Given the description of an element on the screen output the (x, y) to click on. 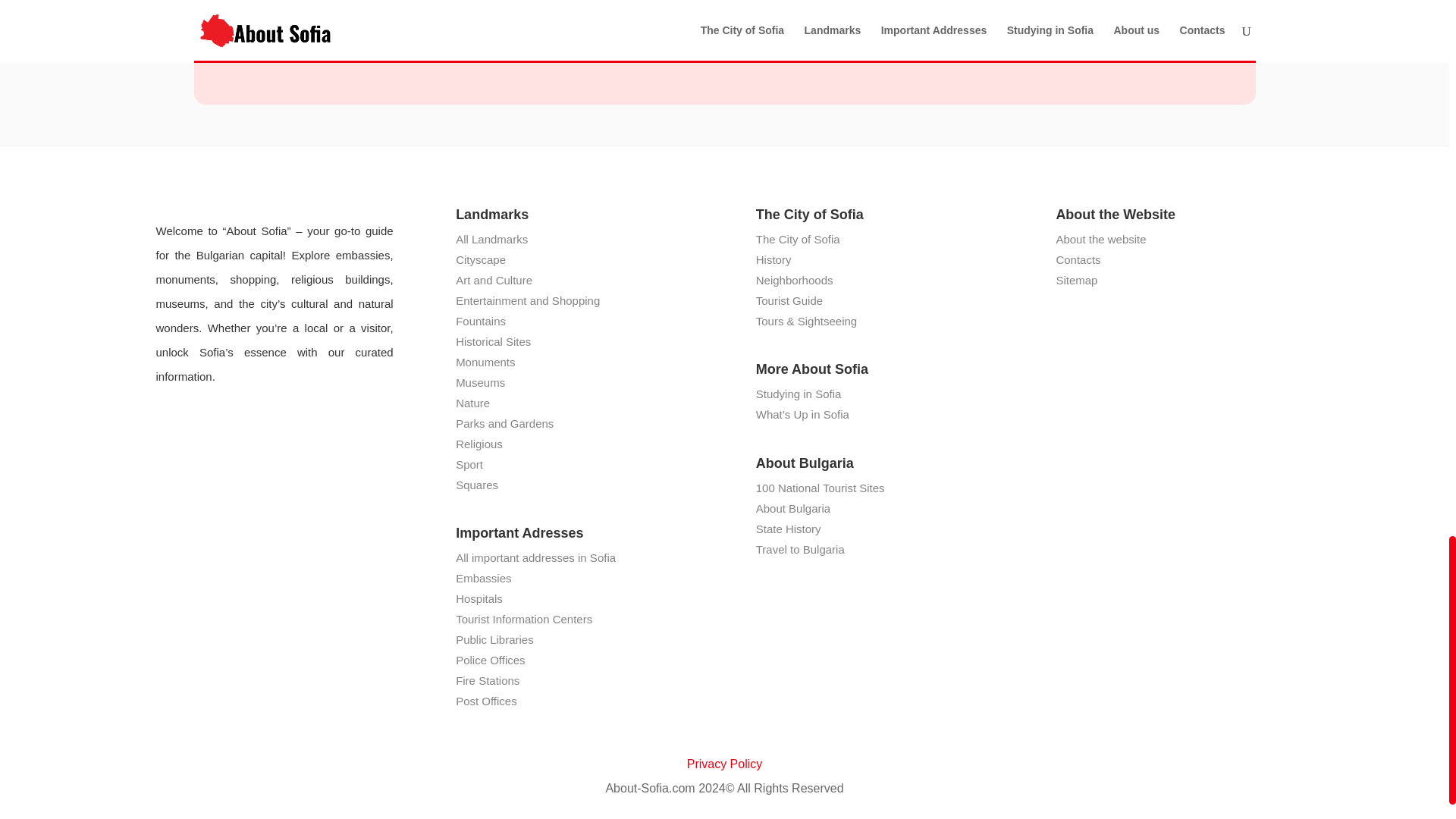
Kremikovtsi housing complex (724, 27)
Kremikovtsi housing complex (724, 27)
Podlozishte (980, 27)
All Landmarks (491, 238)
Cityscape (480, 259)
Podlozishte (980, 27)
